Given the description of an element on the screen output the (x, y) to click on. 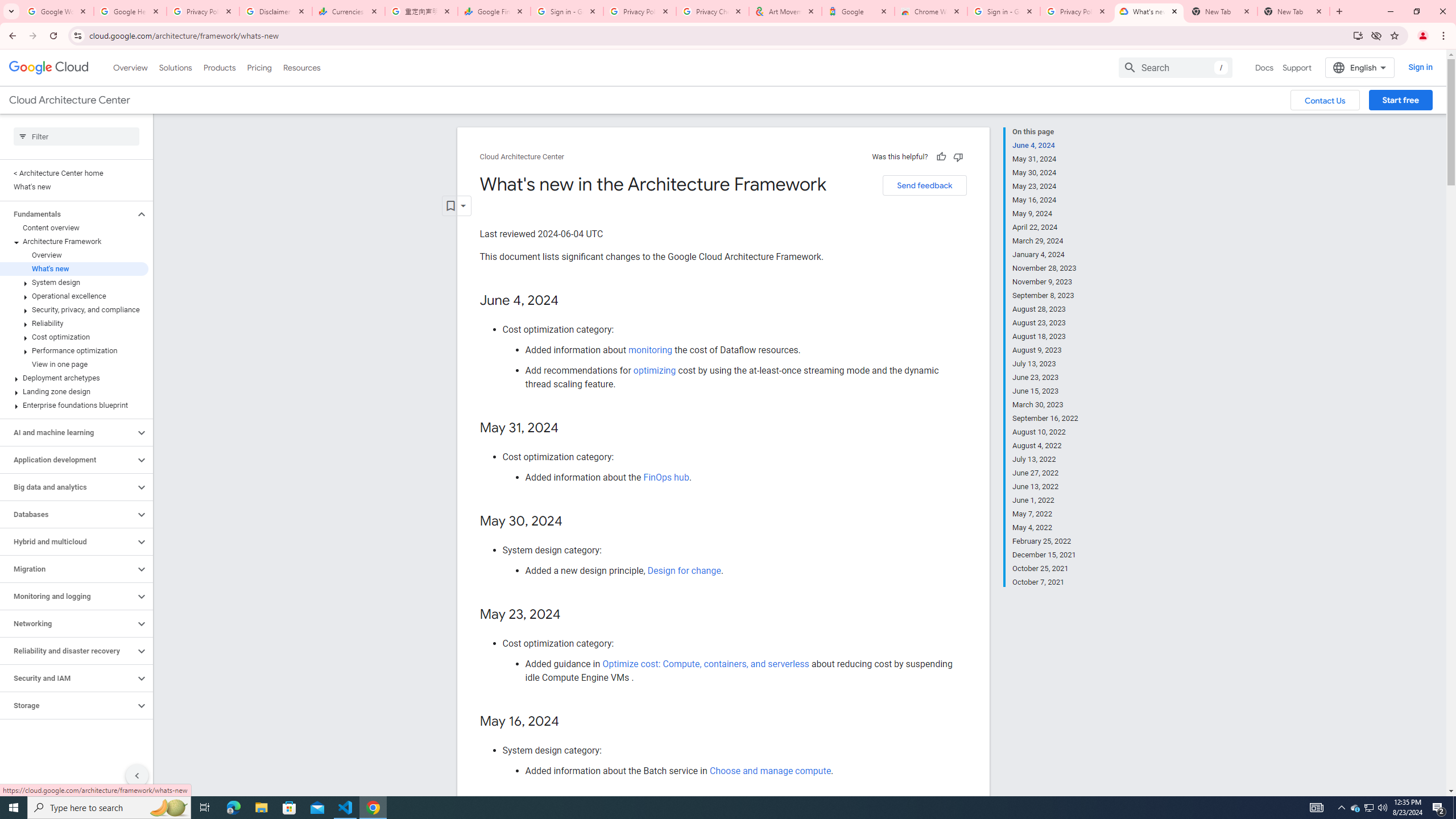
Deployment archetypes (74, 377)
Open dropdown (456, 205)
Type to filter (76, 136)
July 13, 2022 (1044, 459)
October 25, 2021 (1044, 568)
Helpful (940, 156)
May 23, 2024 (1044, 186)
Contact Us (1324, 100)
English (1359, 67)
Start free (1400, 100)
Support (1296, 67)
Migration (67, 568)
